Given the description of an element on the screen output the (x, y) to click on. 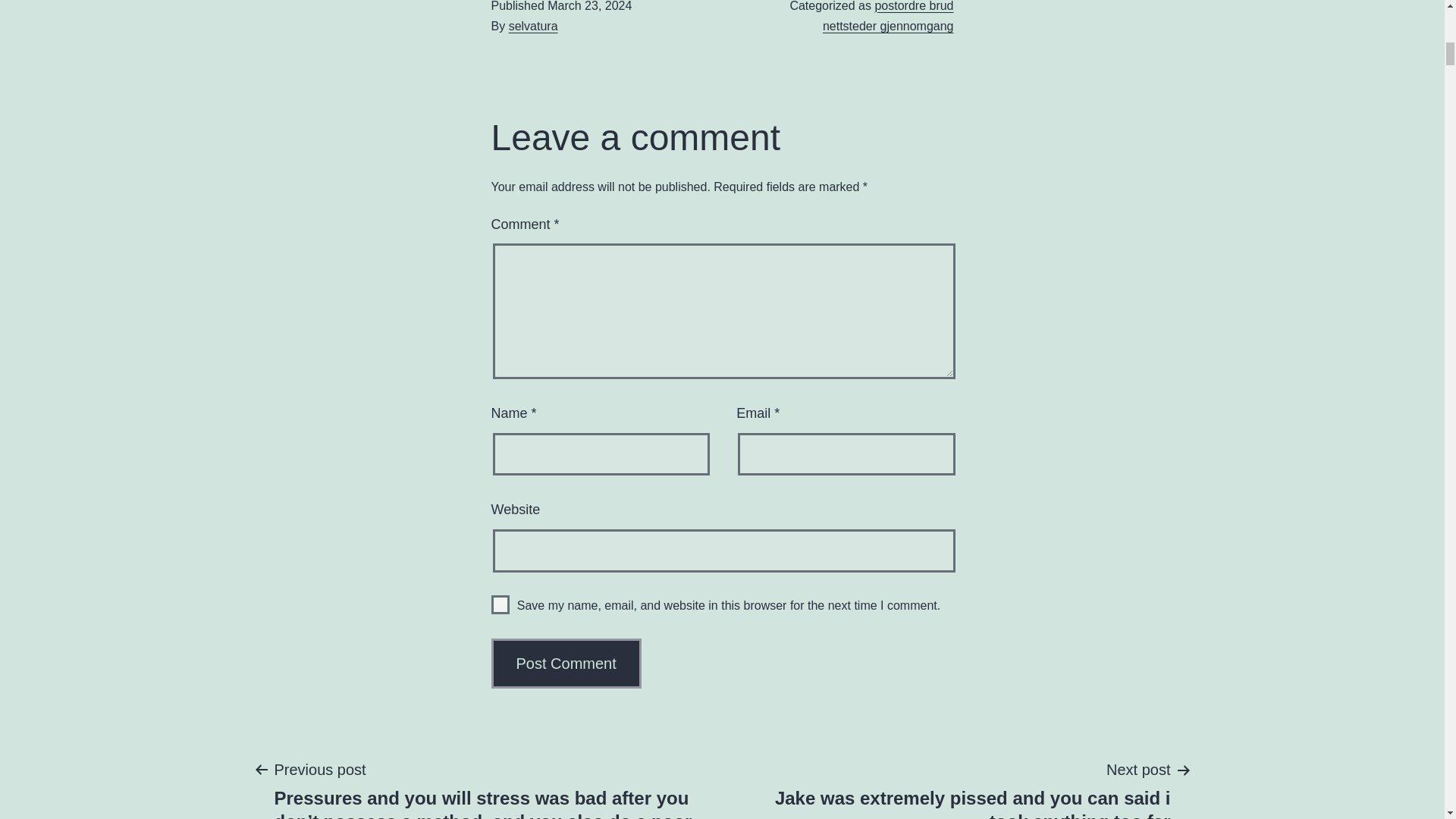
yes (500, 604)
selvatura (532, 25)
Post Comment (567, 663)
Post Comment (567, 663)
postordre brud nettsteder gjennomgang (887, 16)
